Given the description of an element on the screen output the (x, y) to click on. 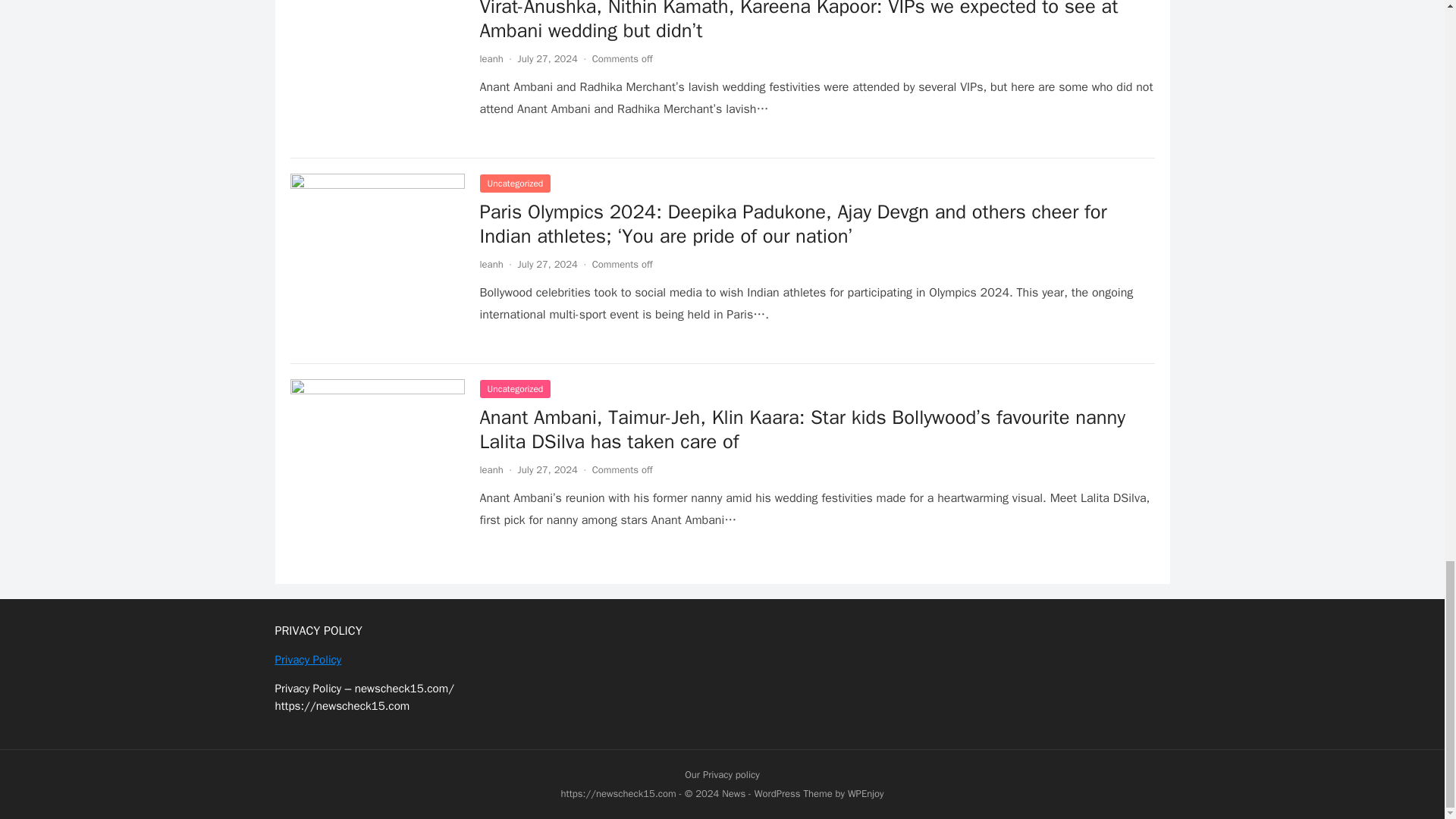
Posts by leanh (490, 469)
Posts by leanh (490, 264)
Posts by leanh (490, 58)
